Given the description of an element on the screen output the (x, y) to click on. 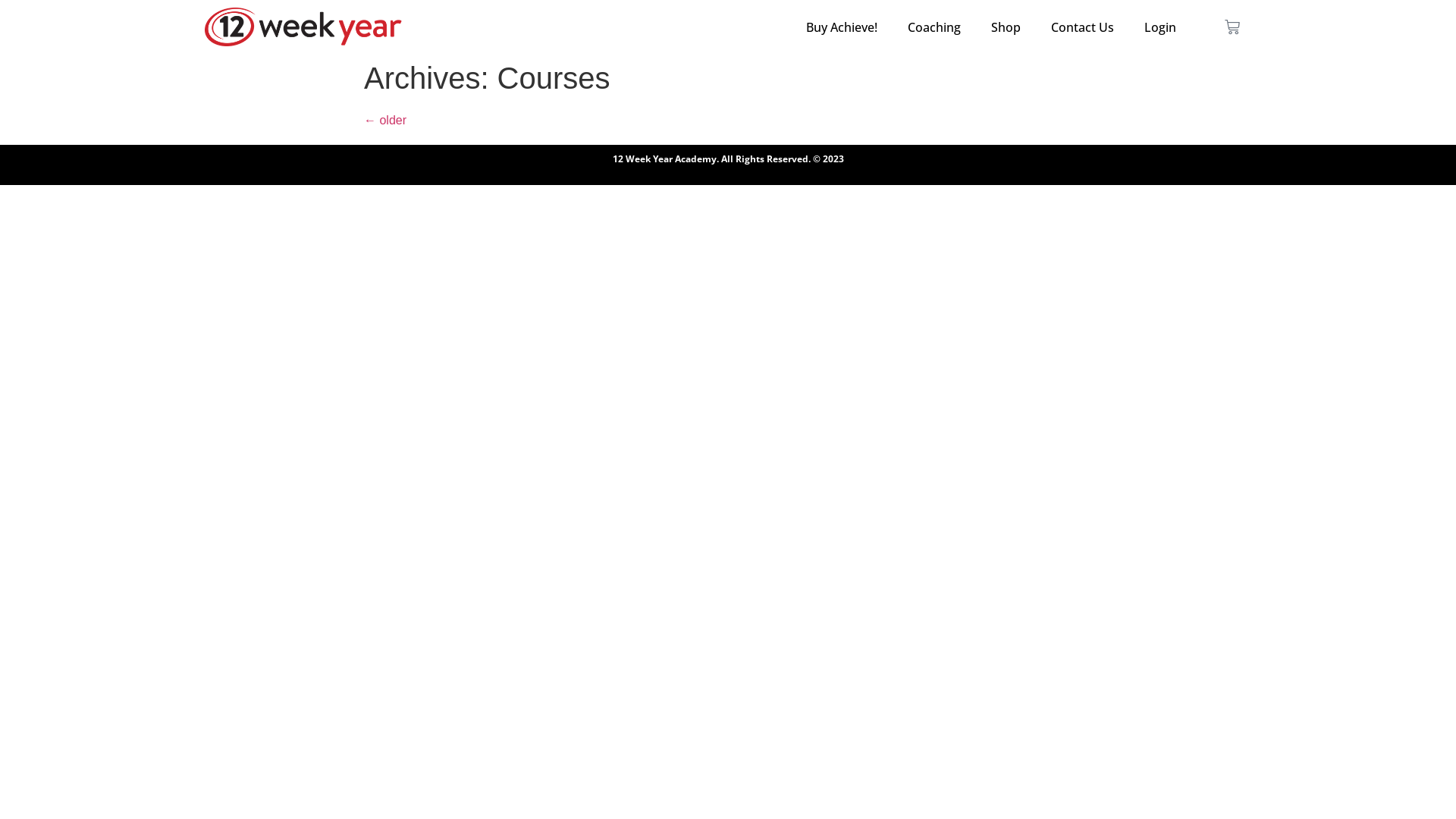
Shop Element type: text (1005, 26)
Contact Us Element type: text (1082, 26)
Login Element type: text (1160, 26)
Coaching Element type: text (933, 26)
Buy Achieve! Element type: text (841, 26)
